Given the description of an element on the screen output the (x, y) to click on. 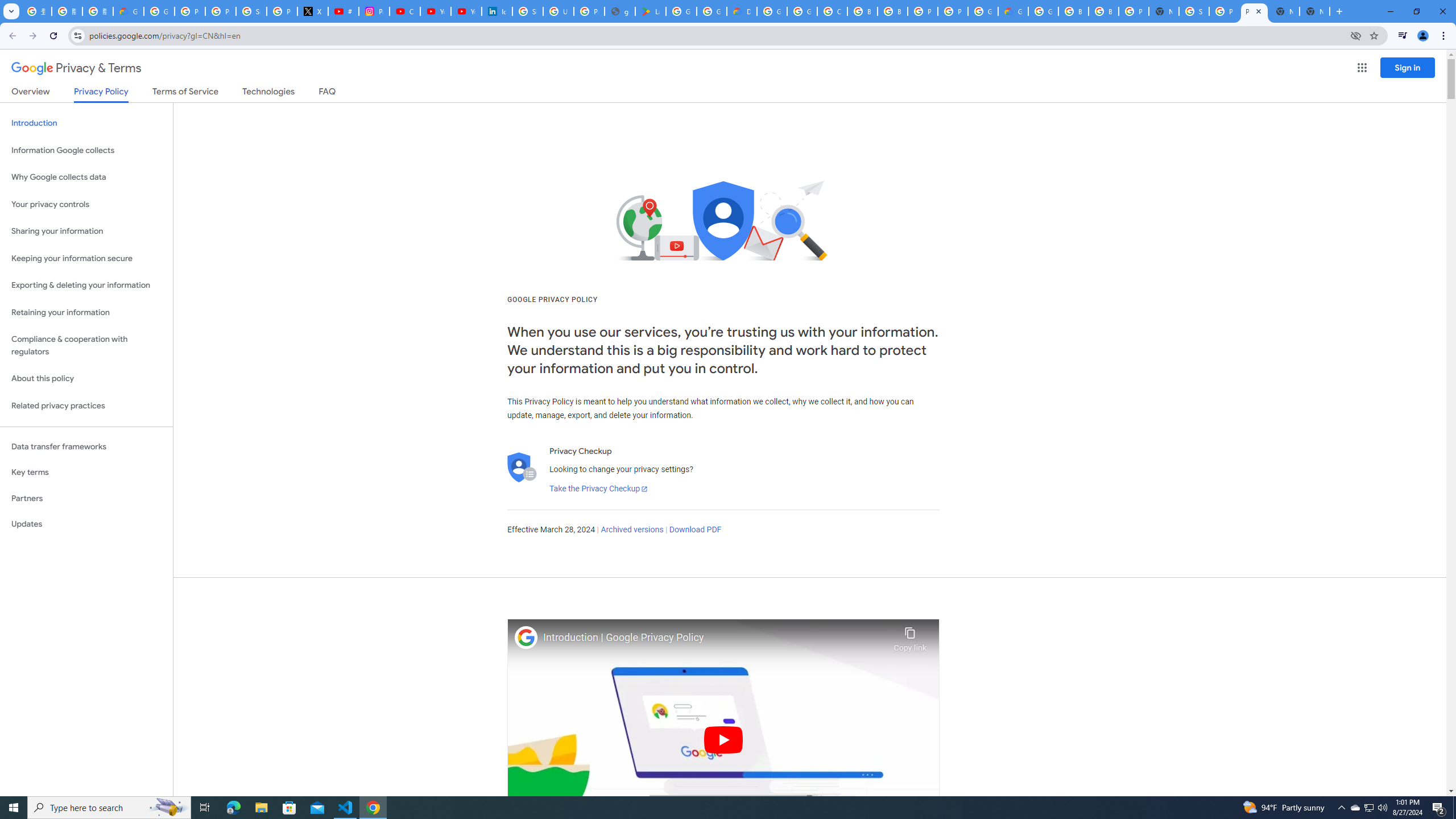
Browse Chrome as a guest - Computer - Google Chrome Help (1072, 11)
